Given the description of an element on the screen output the (x, y) to click on. 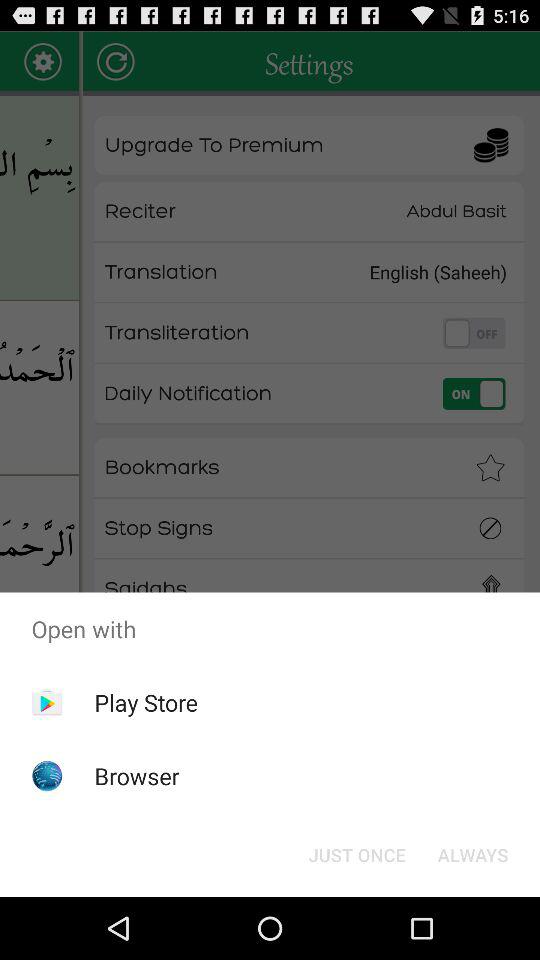
flip until the browser app (136, 775)
